Given the description of an element on the screen output the (x, y) to click on. 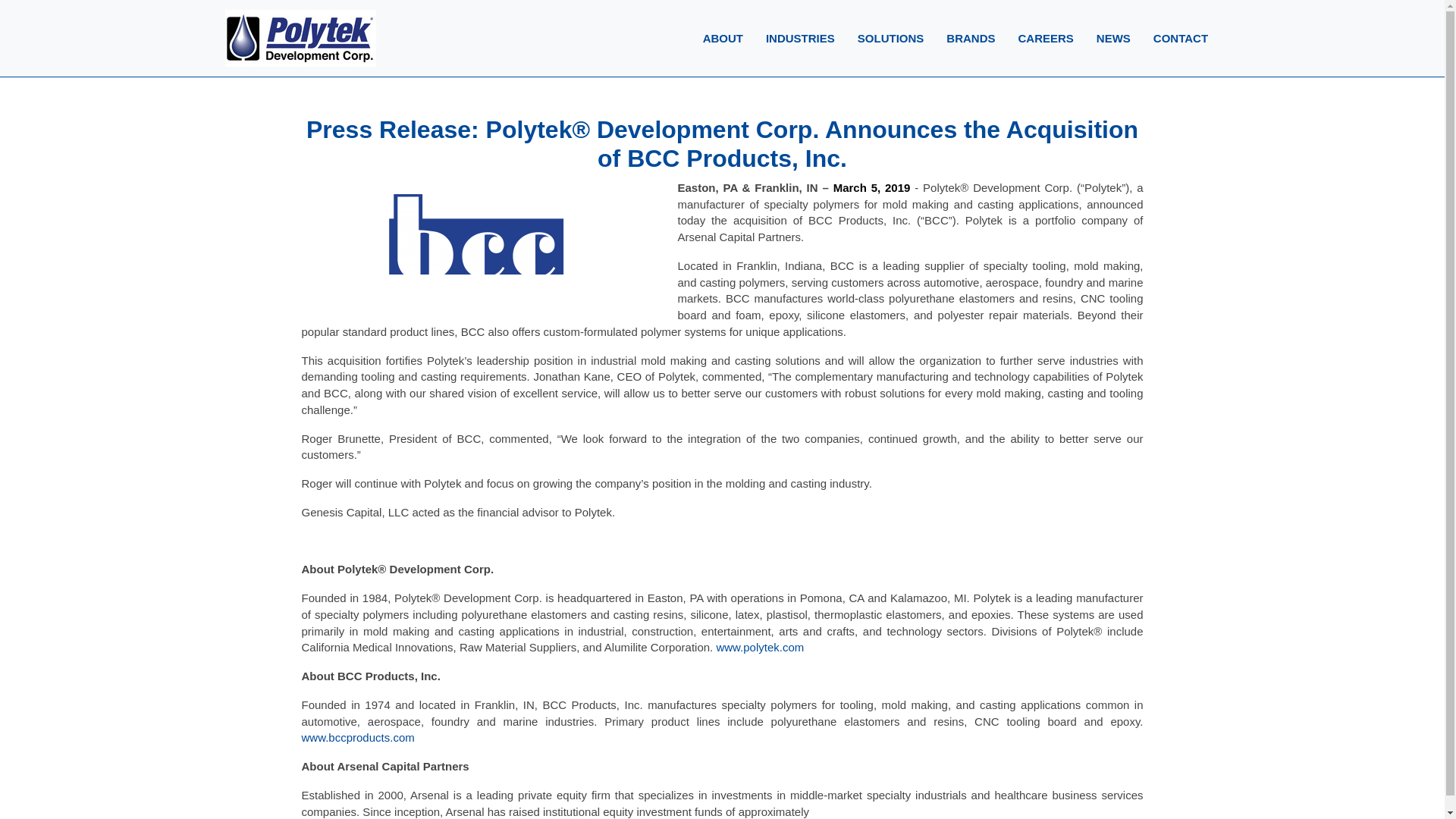
INDUSTRIES (799, 38)
CONTACT (1180, 38)
SOLUTIONS (890, 38)
CAREERS (1045, 38)
Skip to main content (721, 1)
www.bccproducts.com (357, 737)
ABOUT (722, 38)
NEWS (1112, 38)
BRANDS (970, 38)
Home (196, 37)
